Given the description of an element on the screen output the (x, y) to click on. 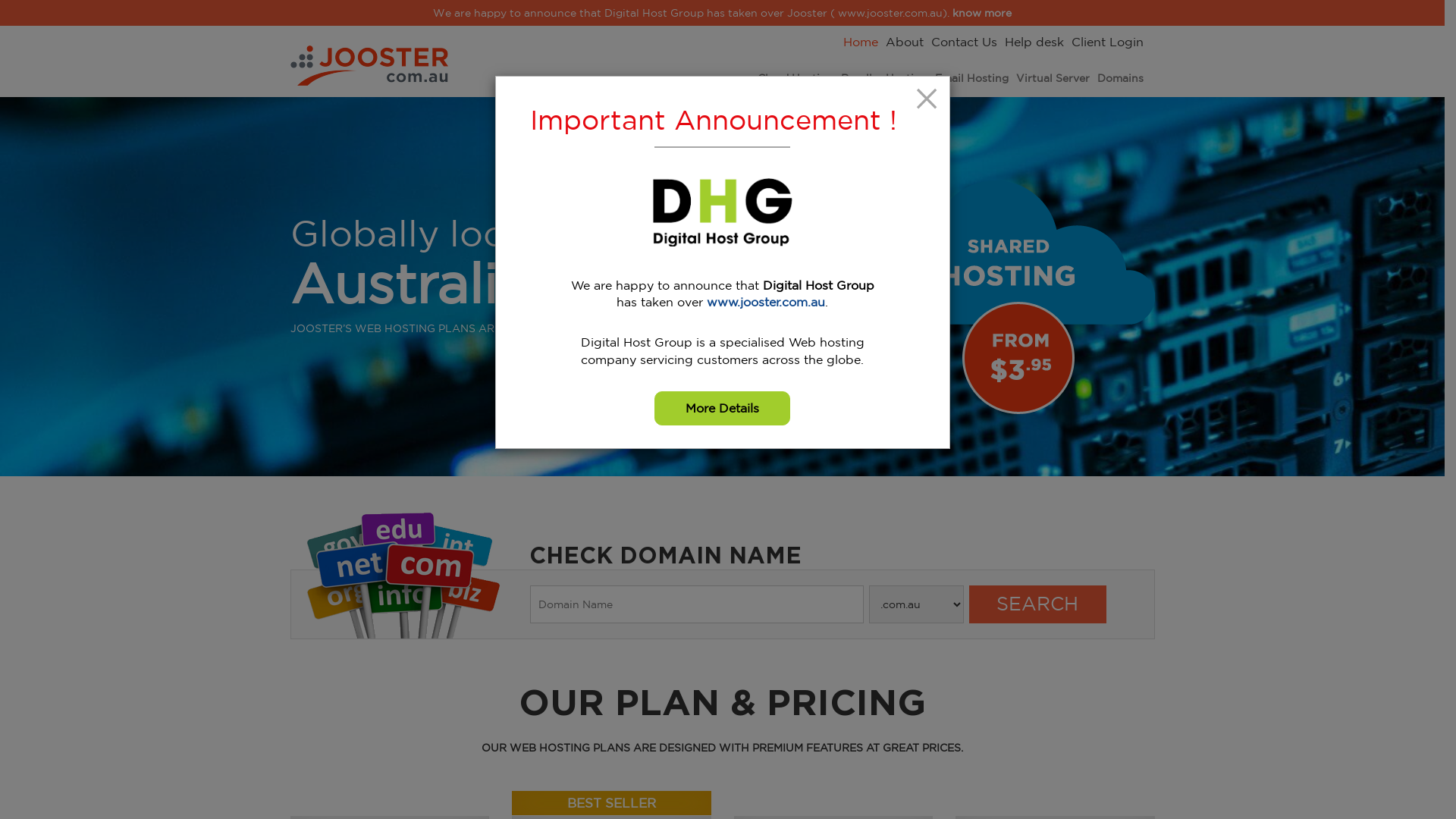
Home Element type: text (860, 41)
Client Login Element type: text (1106, 43)
About Element type: text (904, 43)
www.jooster.com.au Element type: text (765, 301)
SEARCH Element type: text (1037, 604)
Domains Element type: text (1119, 79)
More Details Element type: text (722, 408)
Reseller Hosting Element type: text (883, 79)
Contact Us Element type: text (964, 43)
Email Hosting Element type: text (970, 79)
Cloud Hosting Element type: text (794, 79)
Virtual Server Element type: text (1052, 79)
Help desk Element type: text (1033, 43)
know more Element type: text (981, 12)
